Given the description of an element on the screen output the (x, y) to click on. 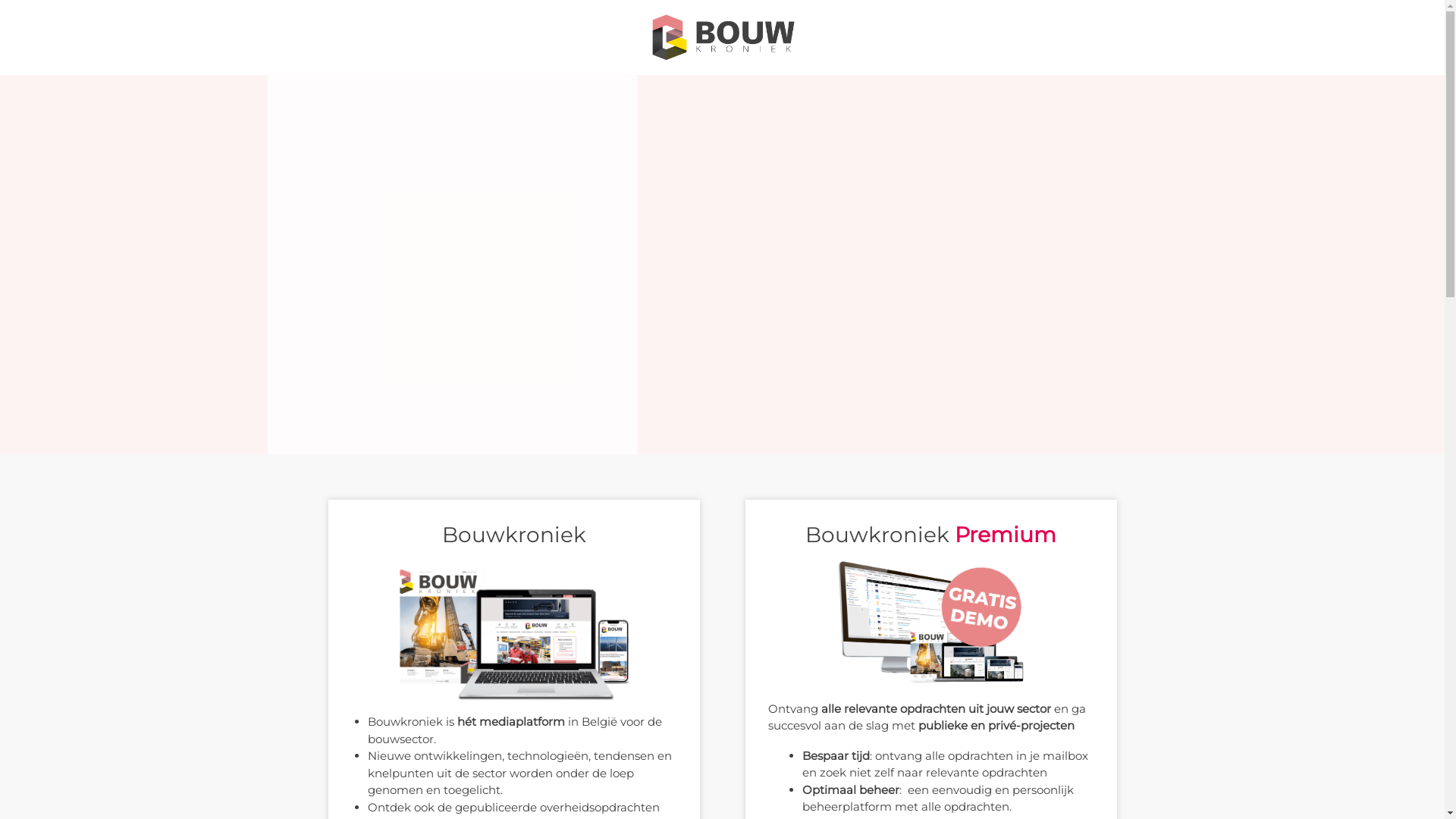
BOUWKRONIEK-logo_plus_name_HORIZ Element type: hover (721, 37)
